Given the description of an element on the screen output the (x, y) to click on. 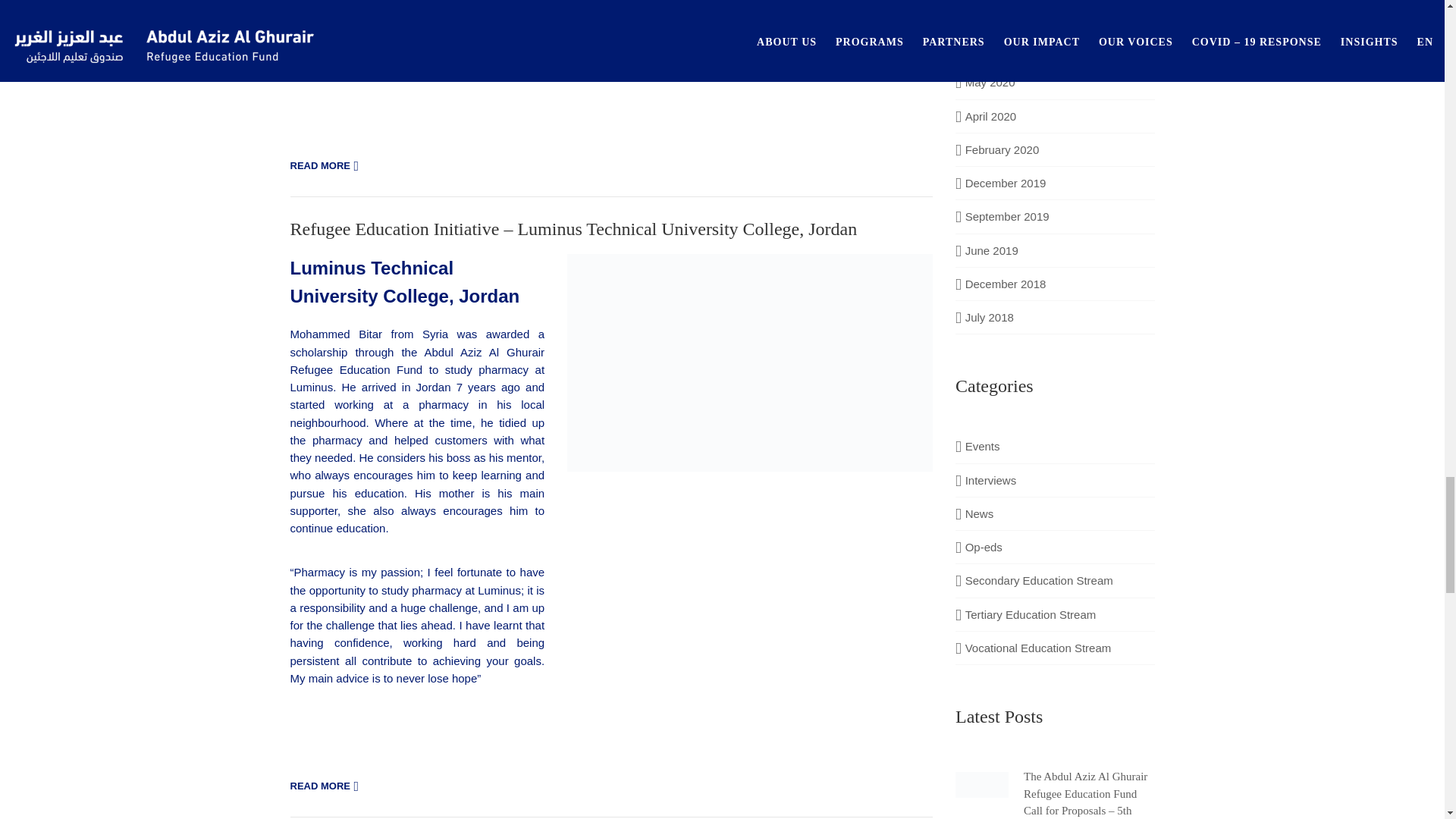
READ MORE (325, 785)
READ MORE (325, 165)
